Given the description of an element on the screen output the (x, y) to click on. 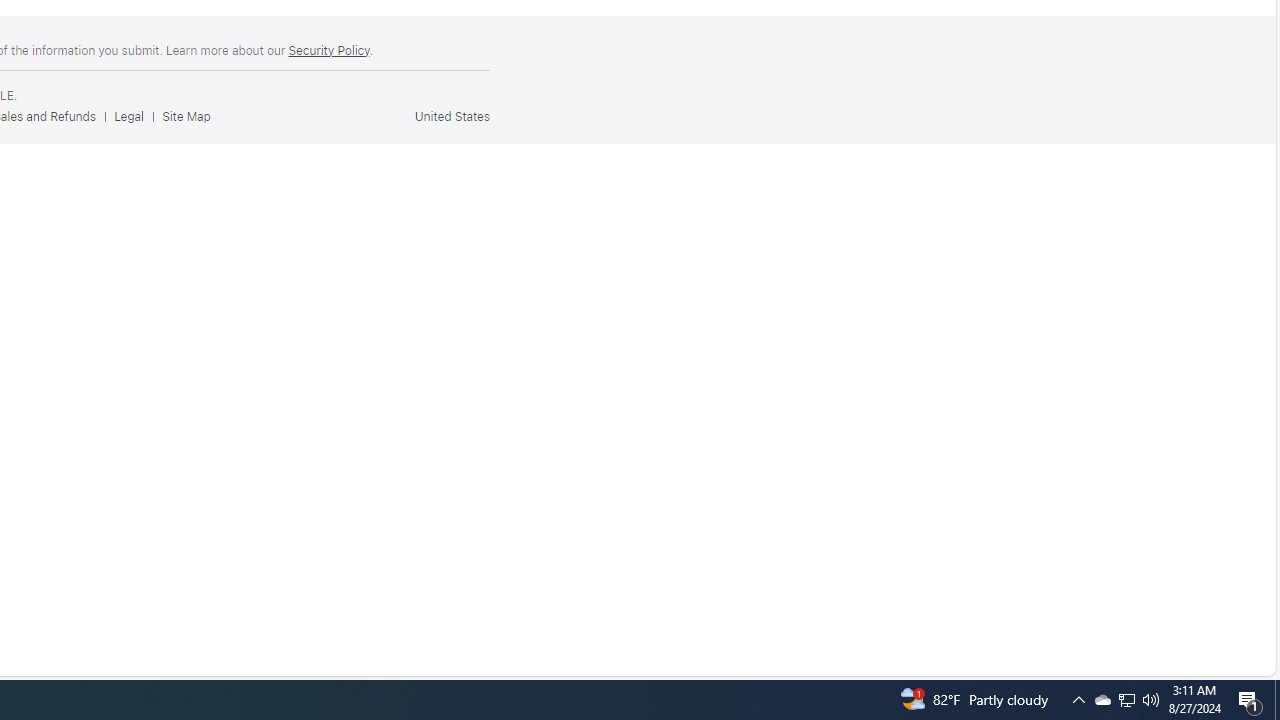
Site Map (186, 116)
Security Policy (328, 50)
United States (451, 116)
Site Map (191, 116)
